Given the description of an element on the screen output the (x, y) to click on. 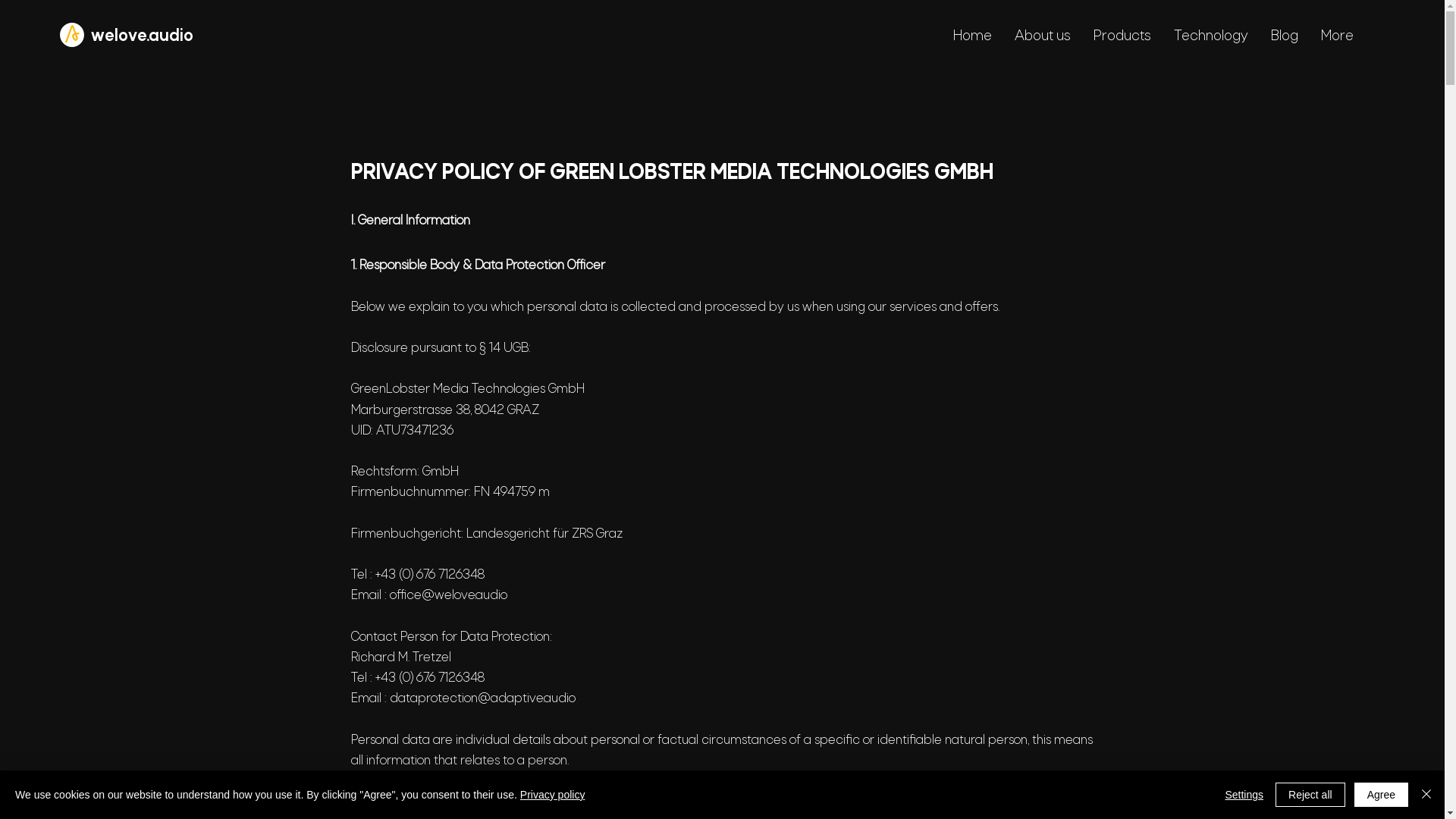
Blog Element type: text (1283, 36)
welove.audio Element type: text (142, 36)
Technology Element type: text (1209, 36)
Products Element type: text (1121, 36)
Privacy policy Element type: text (552, 794)
About us Element type: text (1041, 36)
Reject all Element type: text (1310, 794)
Agree Element type: text (1381, 794)
Home Element type: text (972, 36)
